Given the description of an element on the screen output the (x, y) to click on. 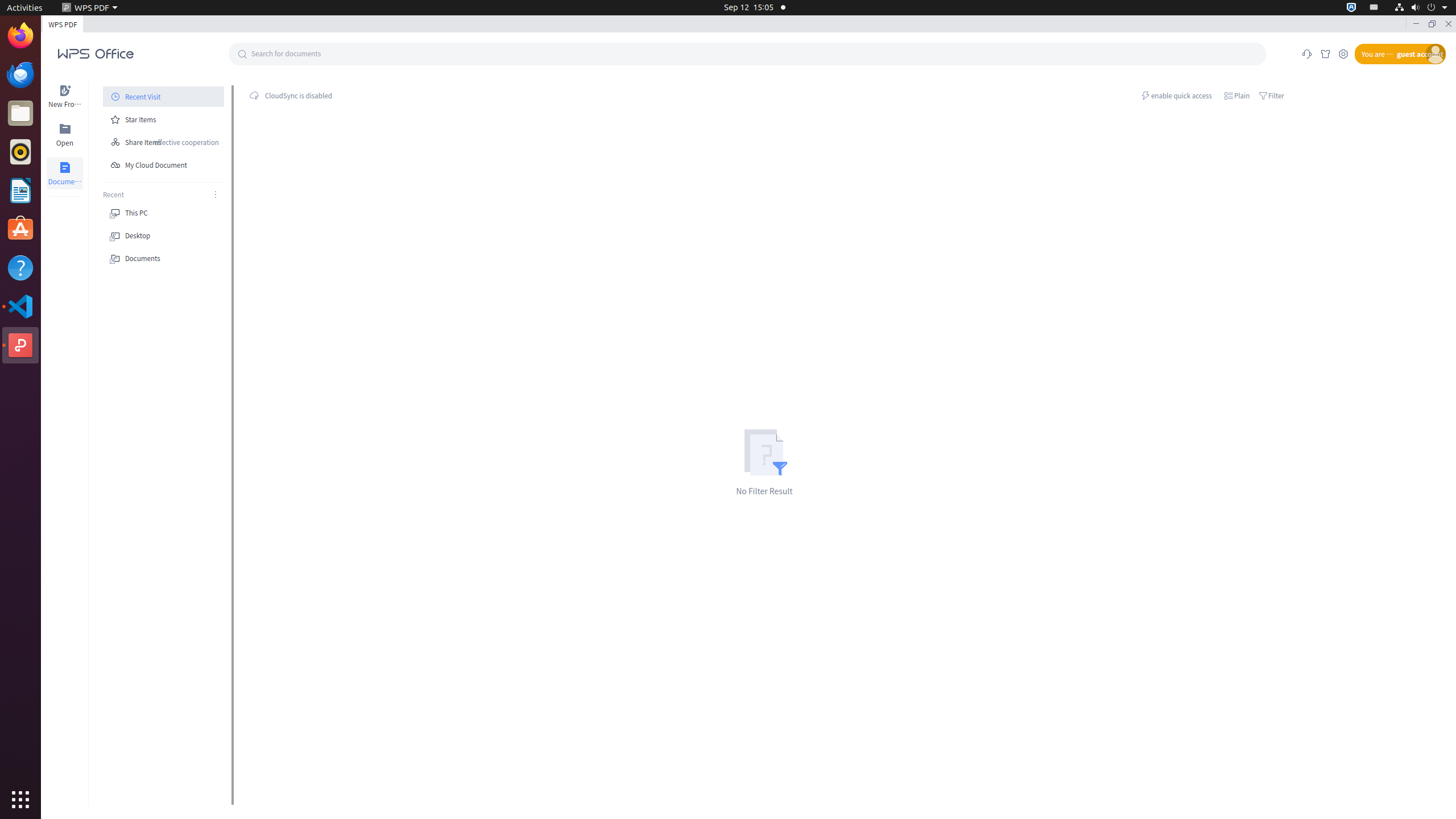
WPS PDF Element type: menu (89, 7)
